Given the description of an element on the screen output the (x, y) to click on. 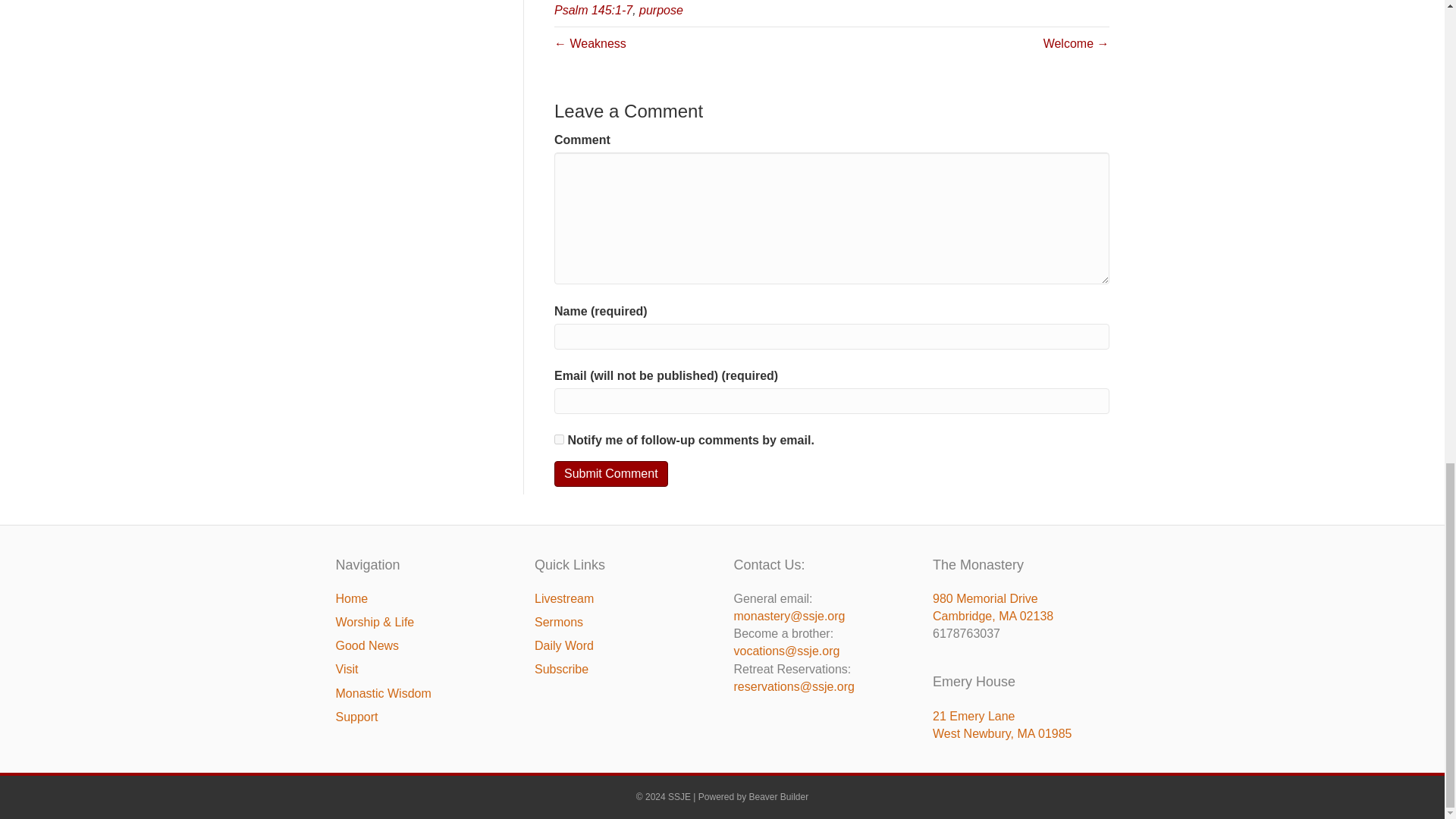
WordPress Page Builder Plugin (779, 796)
Submit Comment (611, 473)
subscribe (559, 439)
